Given the description of an element on the screen output the (x, y) to click on. 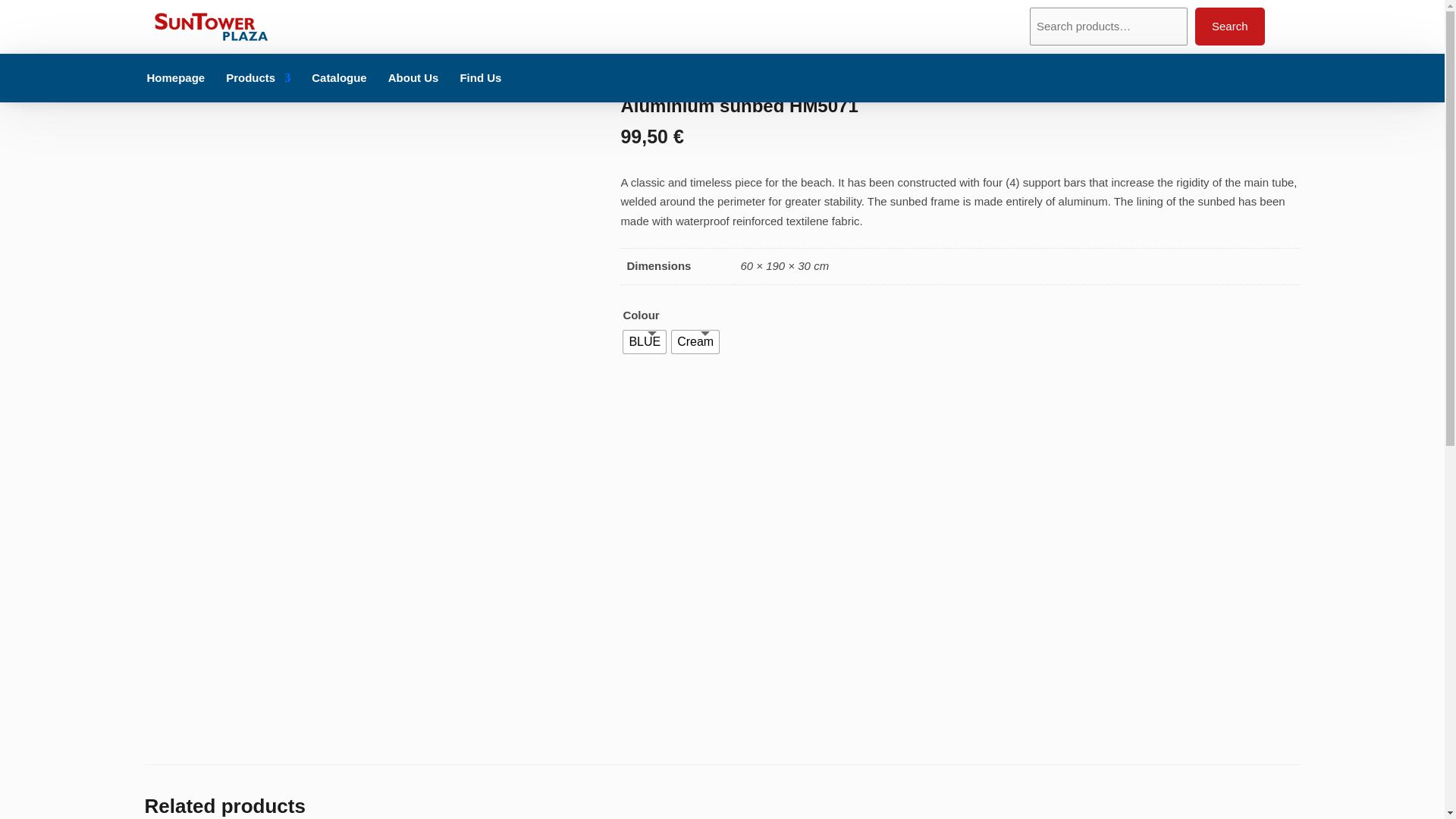
Products (257, 78)
Search (1230, 26)
Cream (695, 341)
Homepage (176, 78)
BLUE (644, 341)
